Given the description of an element on the screen output the (x, y) to click on. 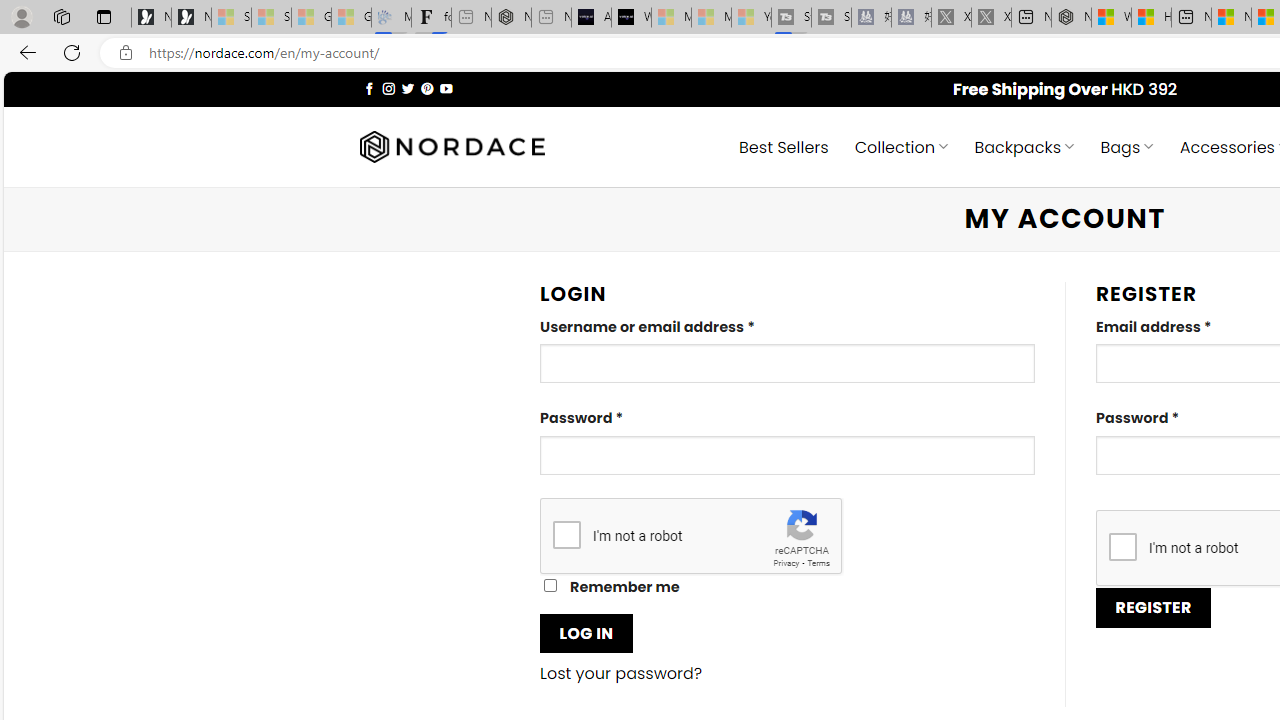
Microsoft Start Sports - Sleeping (671, 17)
  Best Sellers (783, 146)
Newsletter Sign Up (191, 17)
Lost your password? (621, 673)
I'm not a robot (1122, 546)
Follow on Twitter (406, 88)
